Given the description of an element on the screen output the (x, y) to click on. 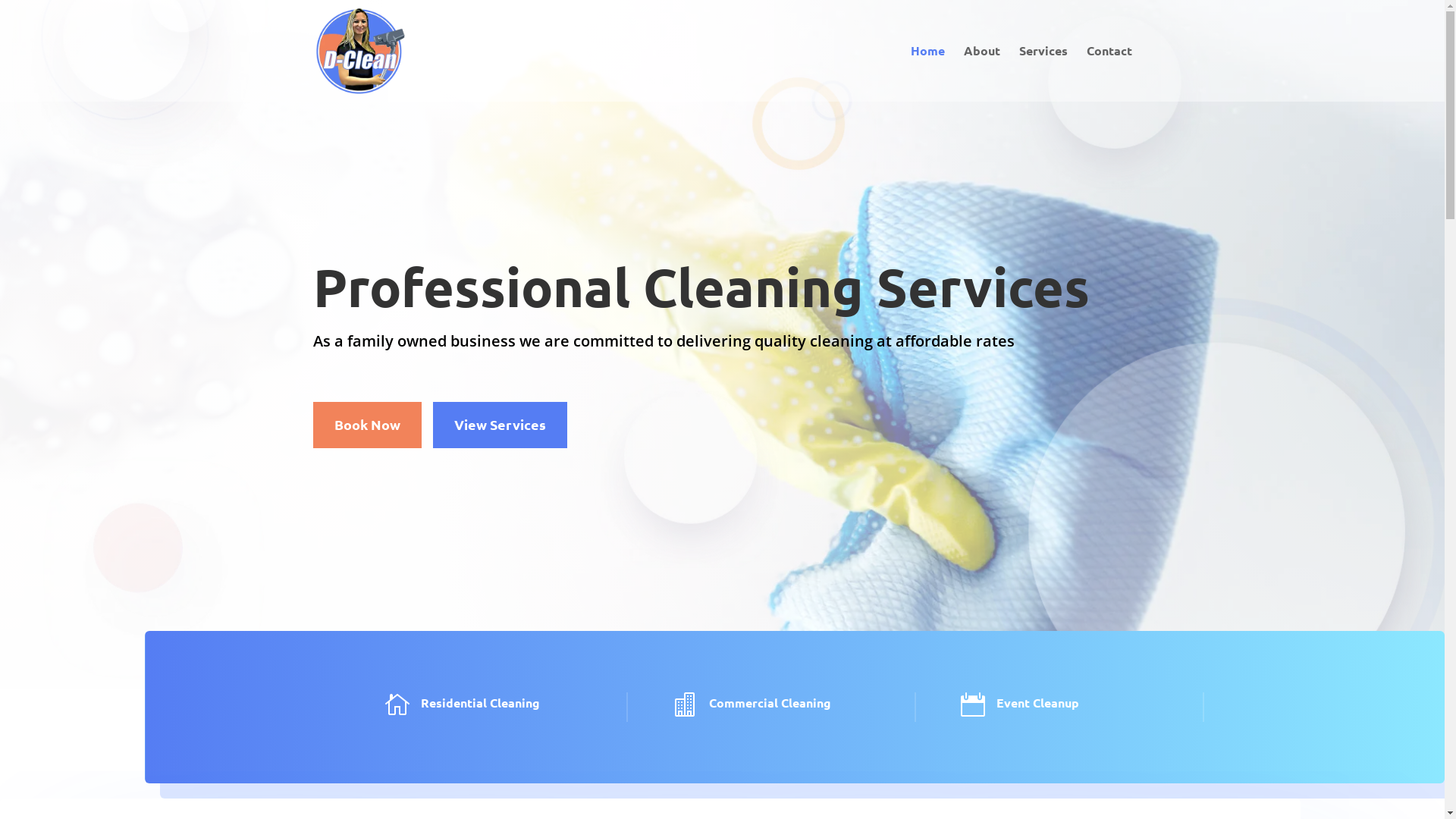
About Element type: text (981, 73)
View Services Element type: text (499, 424)
Services Element type: text (1043, 73)
Home Element type: text (927, 73)
Contact Element type: text (1108, 73)
Book Now Element type: text (366, 424)
